Given the description of an element on the screen output the (x, y) to click on. 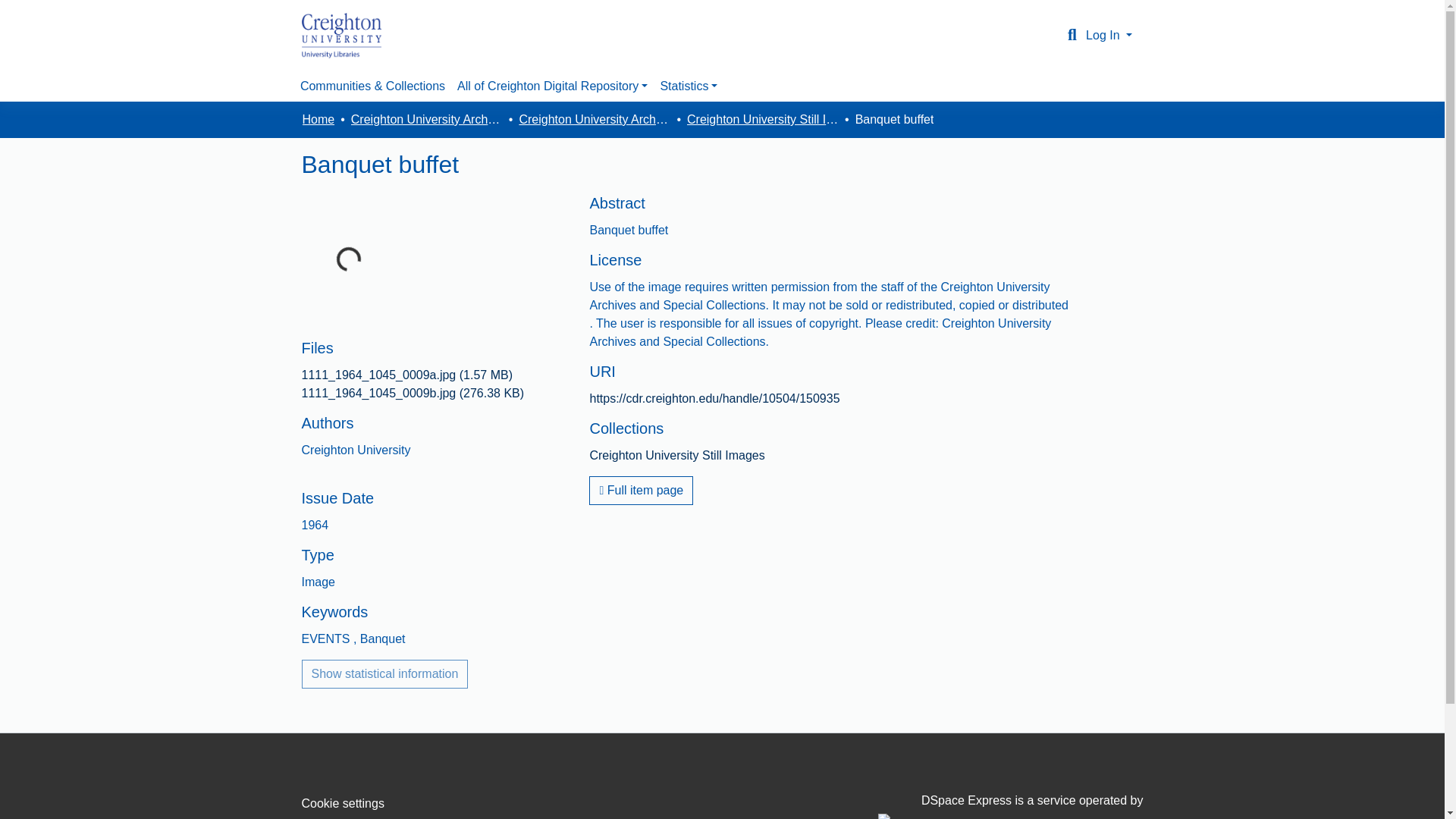
Cookie settings (342, 802)
Creighton University Still Images (676, 454)
Creighton University Archives and Special Collections (426, 119)
Search (1072, 35)
All of Creighton Digital Repository (552, 86)
Creighton University Archives (593, 119)
Statistics (688, 86)
Full item page (641, 490)
Show statistical information (384, 674)
Log In (1108, 34)
Home (317, 119)
DSpace Express is a service operated by (1009, 806)
Creighton University Still Images (762, 119)
